Given the description of an element on the screen output the (x, y) to click on. 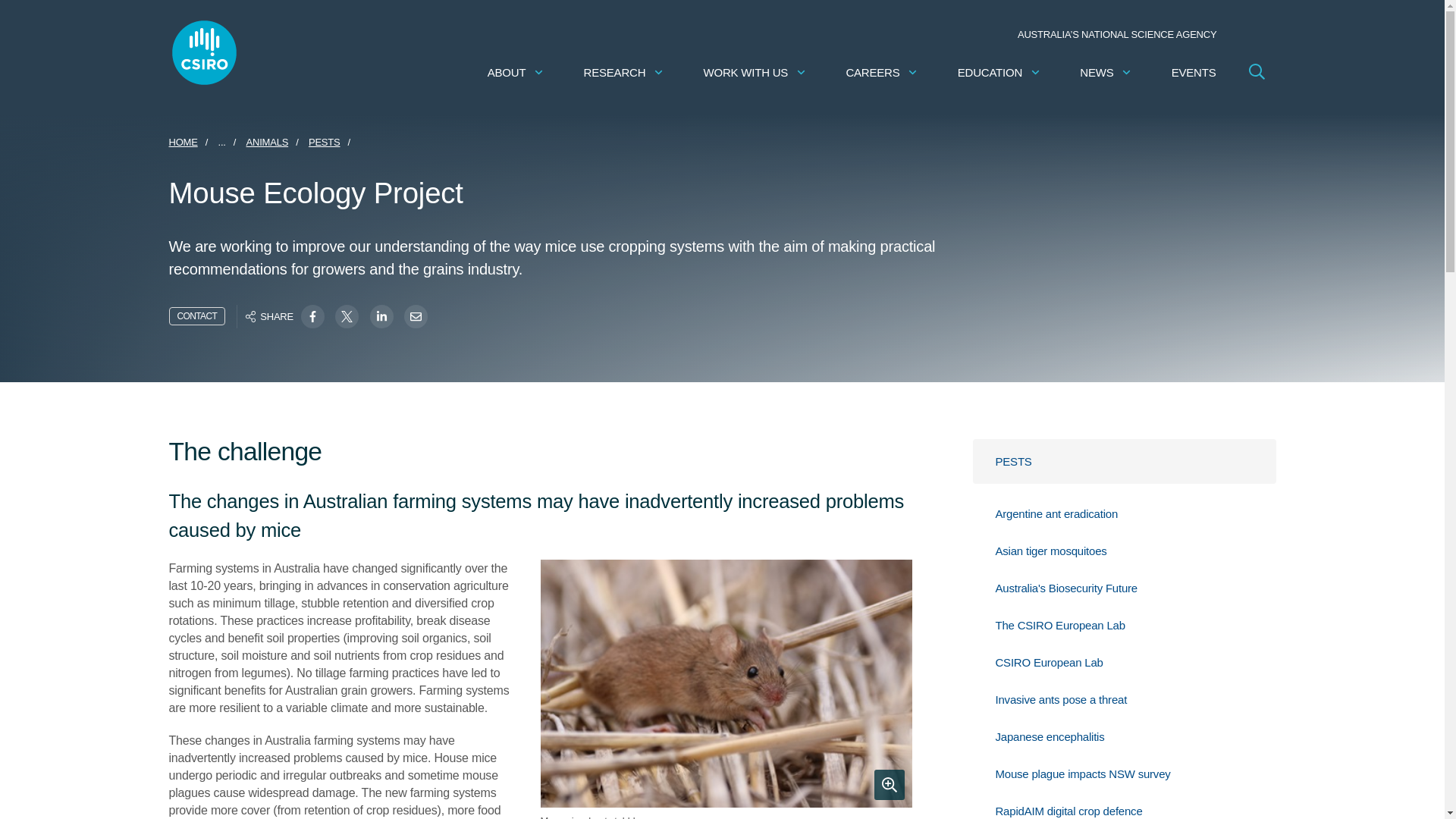
ANIMALS (267, 141)
RESEARCH (624, 72)
WORK WITH US (755, 72)
EDUCATION (999, 72)
CAREERS (881, 72)
Asian tiger mosquitoes (1134, 550)
Argentine ant eradication (1134, 513)
CONTACT (196, 316)
HOME (182, 141)
NEWS (1106, 72)
